Given the description of an element on the screen output the (x, y) to click on. 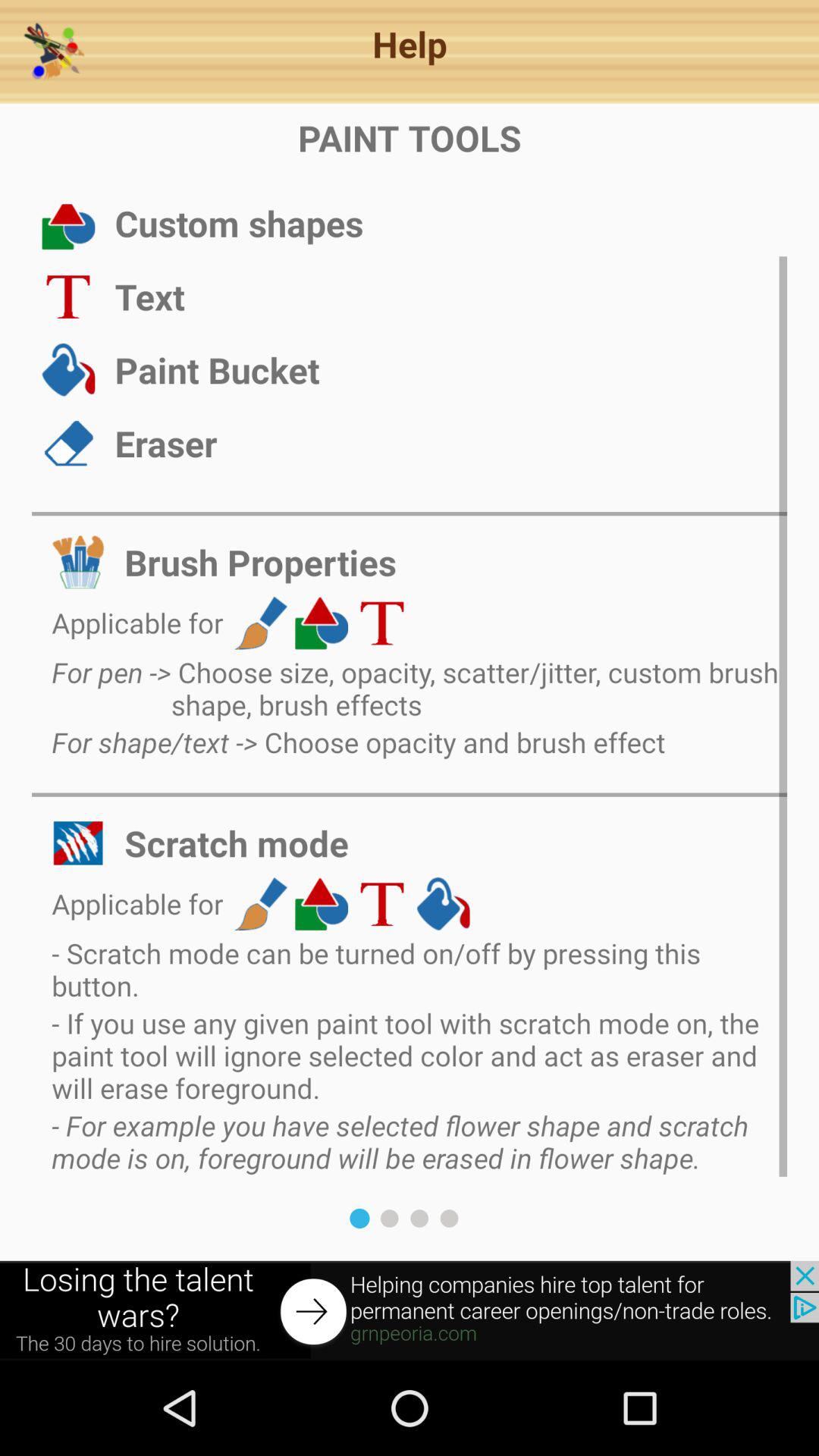
click advertisement (409, 1310)
